Given the description of an element on the screen output the (x, y) to click on. 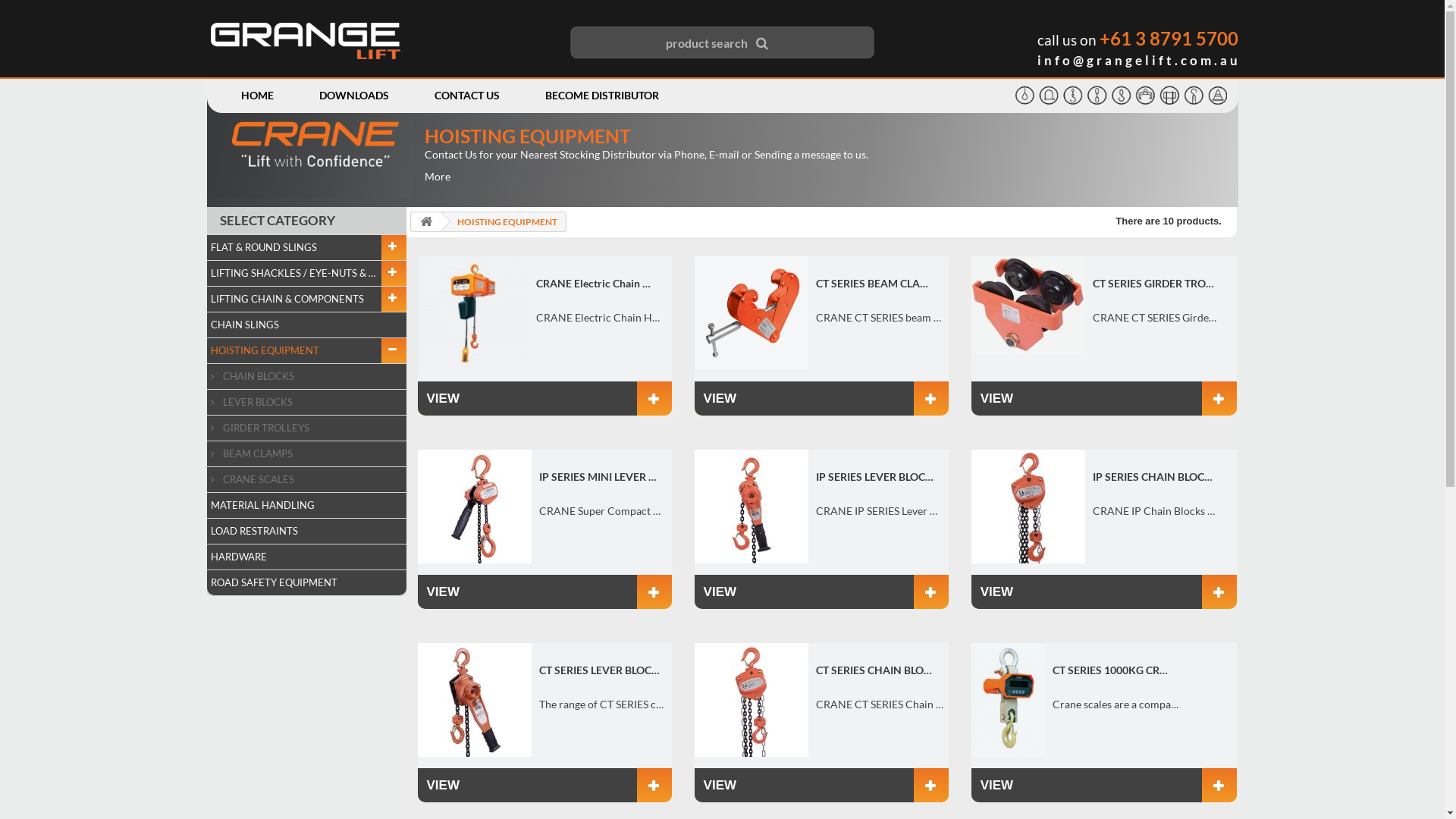
GIRDER TROLLEYS Element type: text (305, 428)
MATERIAL HANDLING Element type: text (305, 505)
CT SERIES GIRDER TROLLEYS Element type: text (1153, 282)
VIEW Element type: text (544, 398)
CT SERIES GIRDER TROLLEYS Element type: hover (1028, 304)
IP SERIES CHAIN BLOCKS Element type: text (1153, 476)
CT SERIES 1000KG CRANE SCALES Element type: hover (1007, 699)
CT SERIES 1000KG CRANE SCALES Element type: text (1112, 669)
IP SERIES LEVER BLOCKS Element type: hover (751, 506)
CT SERIES LEVER BLOCKS Element type: hover (473, 699)
CT SERIES BEAM CLAMPS Element type: hover (751, 313)
LEVER BLOCKS Element type: text (305, 402)
LOAD RESTRAINTS Element type: text (305, 531)
CRANE Electric Chain Hoist Element type: text (596, 282)
IP SERIES CHAIN BLOCKS Element type: hover (1028, 506)
Return to Home Element type: hover (425, 221)
HARDWARE Element type: text (305, 557)
CT SERIES CHAIN BLOCKS Element type: text (876, 669)
Grange Lift Element type: hover (305, 40)
BEAM CLAMPS Element type: text (305, 454)
ROAD SAFETY EQUIPMENT Element type: text (305, 583)
CT SERIES BEAM CLAMPS Element type: text (876, 282)
VIEW Element type: text (821, 398)
VIEW Element type: text (1103, 398)
IP SERIES LEVER BLOCKS Element type: text (876, 476)
CT SERIES CHAIN BLOCKS Element type: hover (751, 699)
CHAIN SLINGS Element type: text (305, 325)
CRANE SCALES Element type: text (305, 479)
HOISTING EQUIPMENT Element type: text (305, 351)
CONTACT US Element type: text (466, 95)
CHAIN BLOCKS Element type: text (305, 376)
FLAT & ROUND SLINGS Element type: text (305, 247)
CT SERIES LEVER BLOCKS Element type: text (598, 669)
CRANE Electric Chain Hoist Element type: hover (472, 313)
HOME Element type: text (257, 95)
LIFTING CHAIN & COMPONENTS Element type: text (305, 299)
IP SERIES MINI LEVER BLOCKS Element type: text (598, 476)
VIEW Element type: text (821, 591)
Sending a message Element type: text (796, 153)
VIEW Element type: text (544, 591)
VIEW Element type: text (544, 785)
LIFTING SHACKLES / EYE-NUTS & BOLTS Element type: text (305, 273)
VIEW Element type: text (1103, 785)
VIEW Element type: text (1103, 591)
BECOME DISTRIBUTOR Element type: text (600, 95)
More Element type: text (437, 175)
DOWNLOADS Element type: text (353, 95)
IP SERIES MINI LEVER BLOCKS Element type: hover (473, 506)
VIEW Element type: text (821, 785)
